Given the description of an element on the screen output the (x, y) to click on. 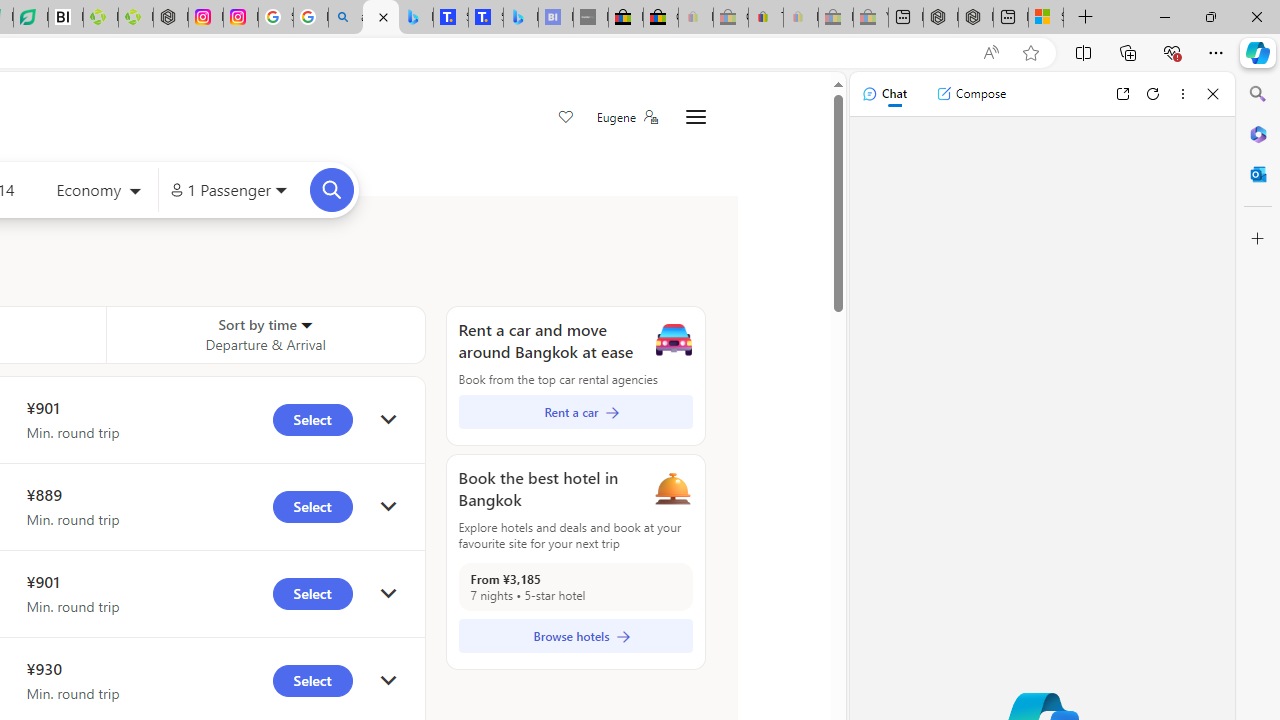
Press Room - eBay Inc. - Sleeping (835, 17)
Descarga Driver Updater (136, 17)
alabama high school quarterback dies - Search (346, 17)
Sort by time Sorter Departure & Arrival (265, 334)
Shangri-La Bangkok, Hotel reviews and Room rates (485, 17)
Rent a car (575, 412)
Microsoft Bing Travel - Flights from Hong Kong to Bangkok (380, 17)
